Given the description of an element on the screen output the (x, y) to click on. 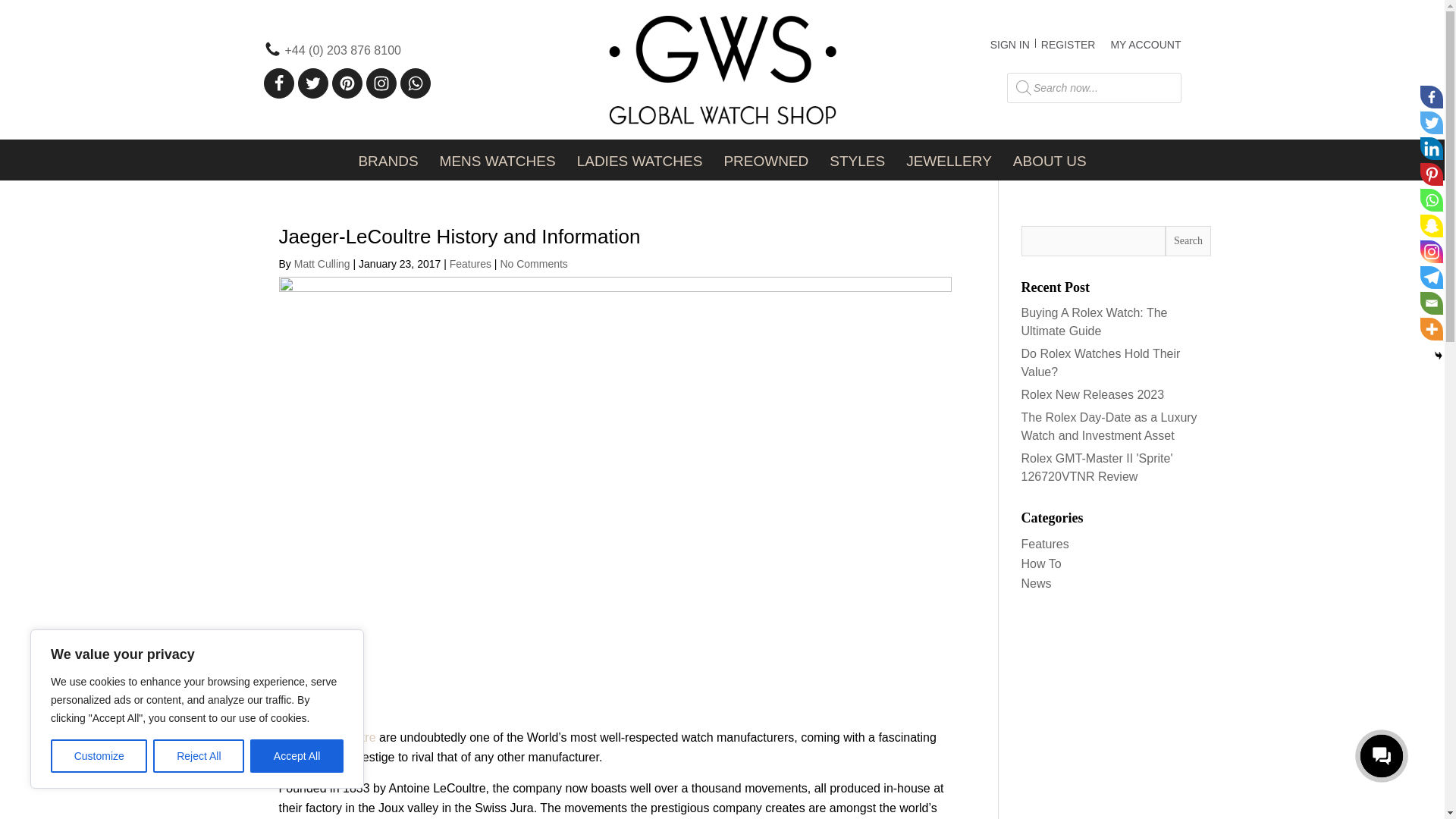
Instagram (1431, 251)
SIGN IN (1009, 44)
Whatsapp (1431, 200)
Twitter (1431, 122)
BRANDS (387, 159)
REGISTER (1068, 44)
Reject All (198, 756)
Pinterest (1431, 173)
MY ACCOUNT (1144, 44)
Telegram (1431, 277)
Email (1431, 302)
Customize (98, 756)
More (1431, 328)
Accept All (296, 756)
Snapchat (1431, 225)
